Given the description of an element on the screen output the (x, y) to click on. 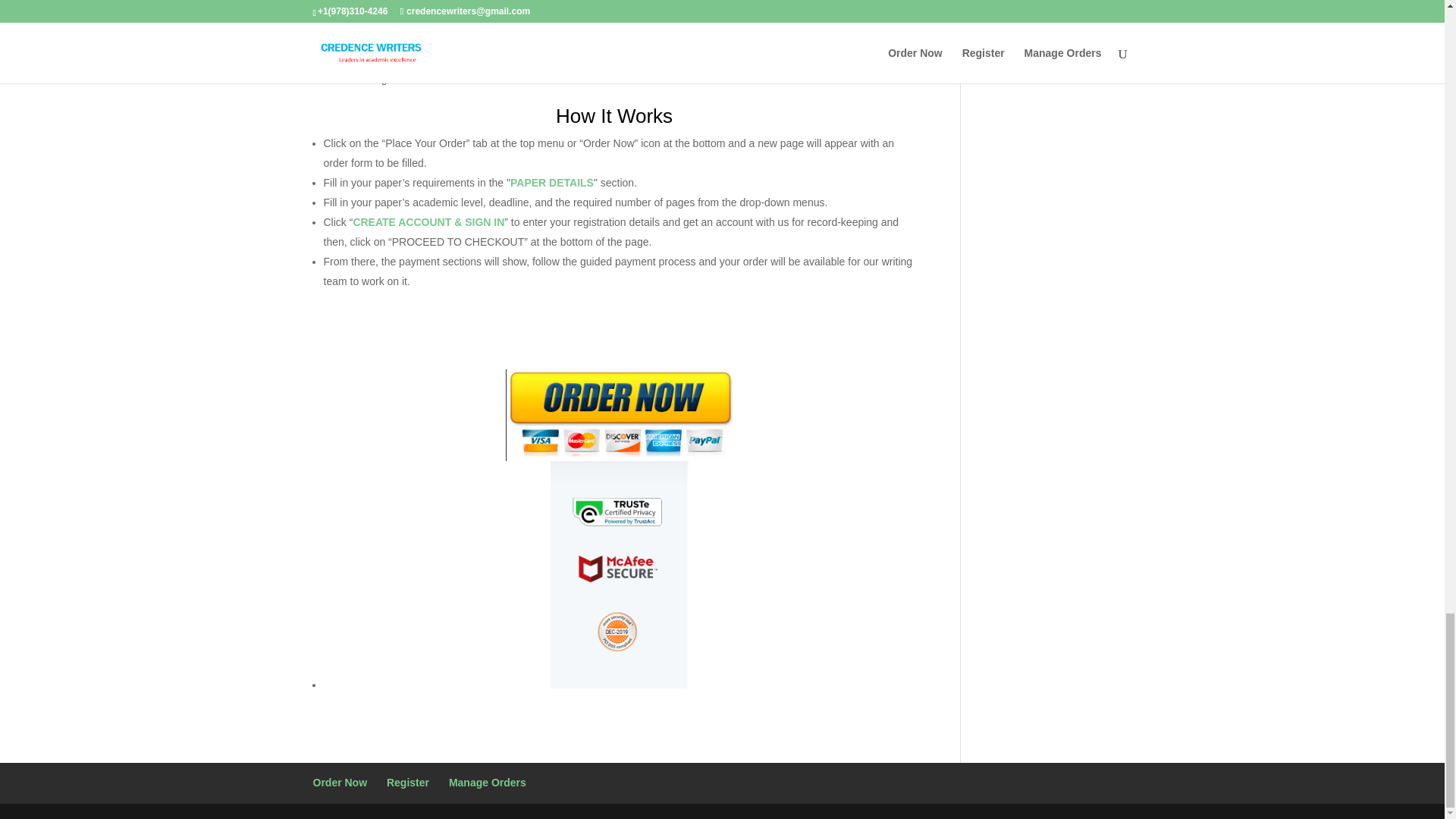
PAPER DETAILS (552, 182)
Order Now (339, 782)
Manage Orders (486, 782)
Register (408, 782)
